Given the description of an element on the screen output the (x, y) to click on. 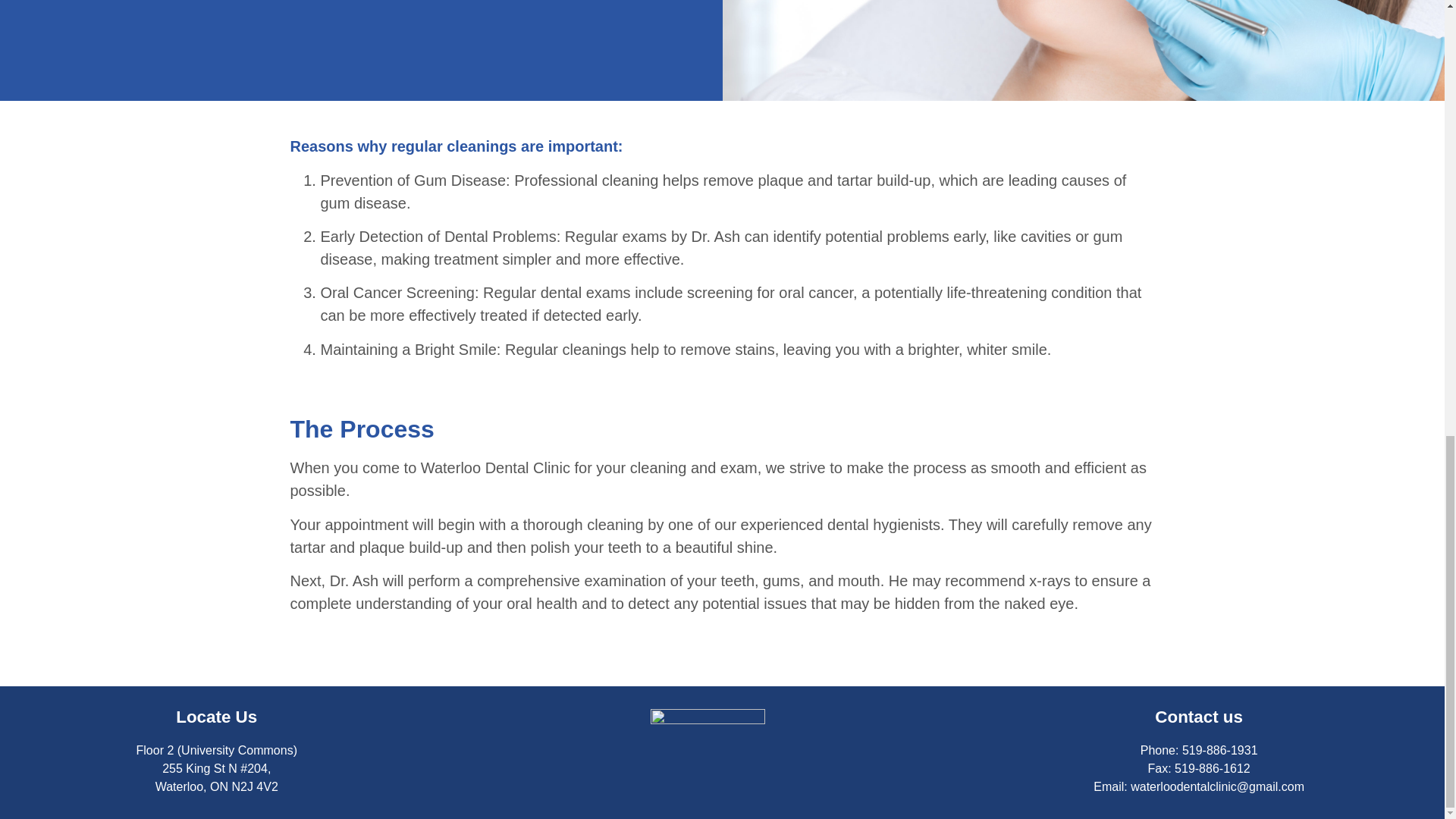
Phone: 519-886-1931 (1198, 751)
